Given the description of an element on the screen output the (x, y) to click on. 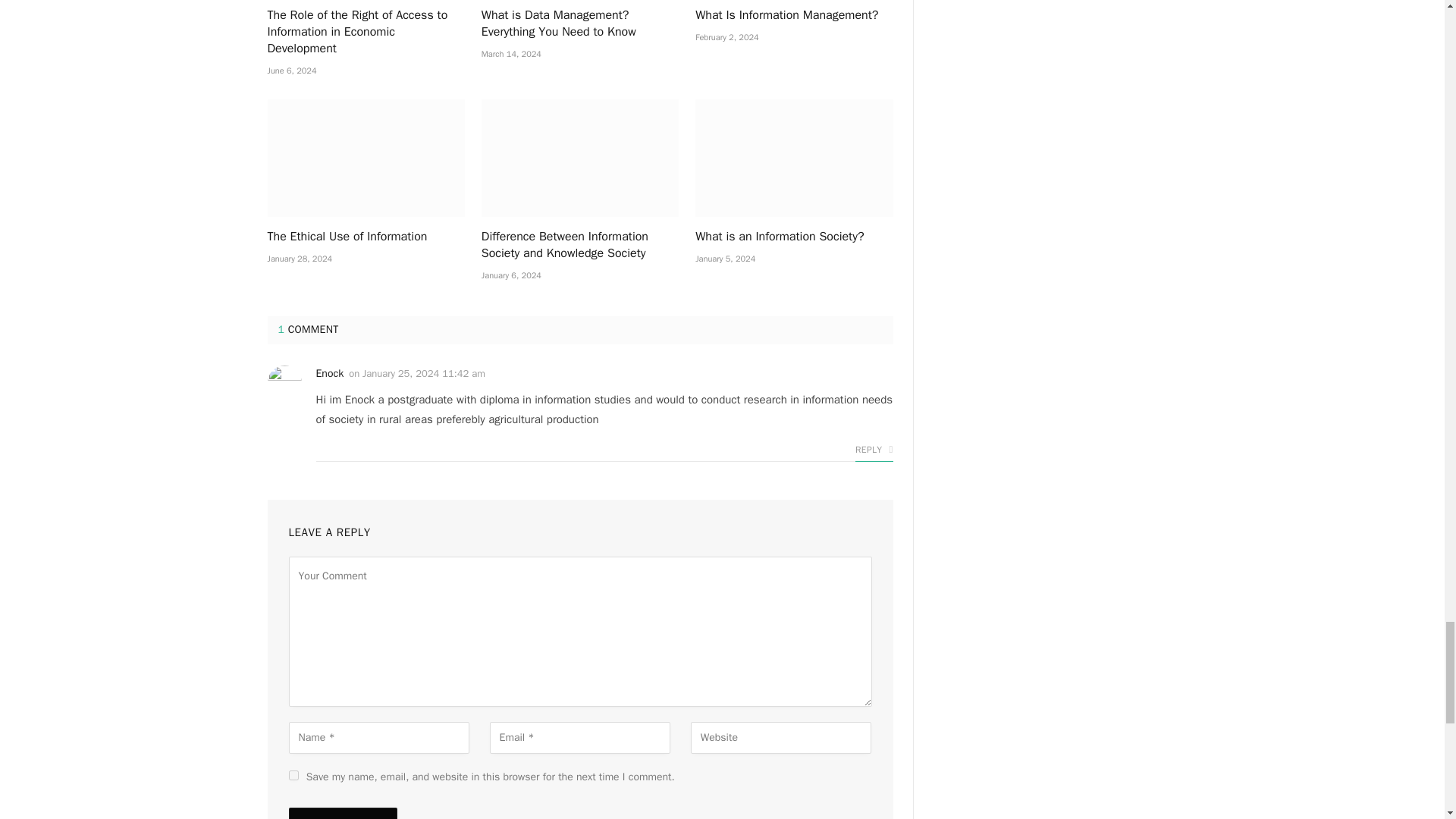
yes (293, 775)
Post Comment (342, 813)
